Given the description of an element on the screen output the (x, y) to click on. 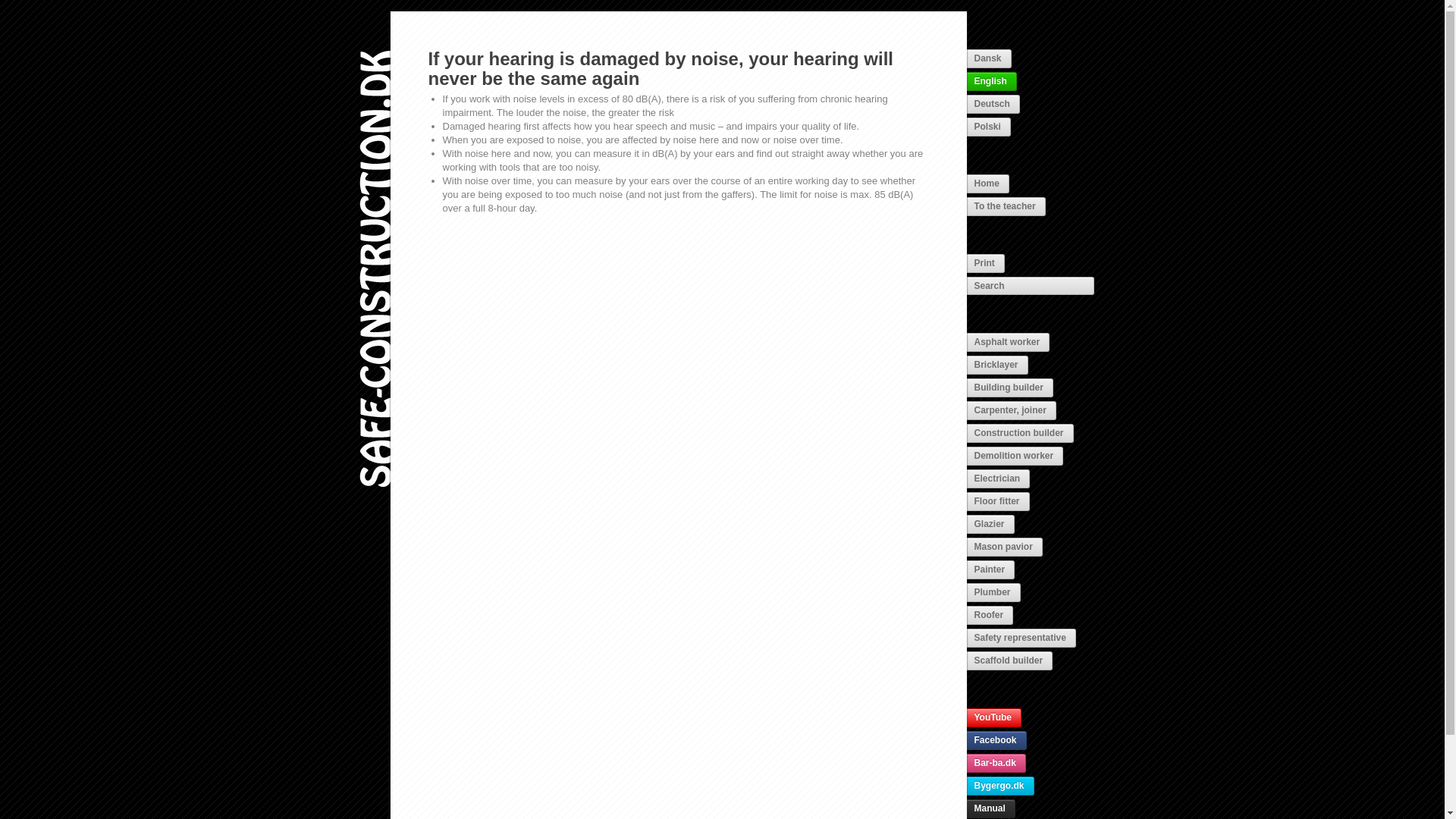
Home (987, 183)
Search (1029, 285)
Polski (988, 126)
Dansk (988, 58)
Roofer (989, 615)
Painter (990, 569)
Glazier (989, 524)
Home (374, 652)
English (991, 81)
Plumber (993, 592)
